Given the description of an element on the screen output the (x, y) to click on. 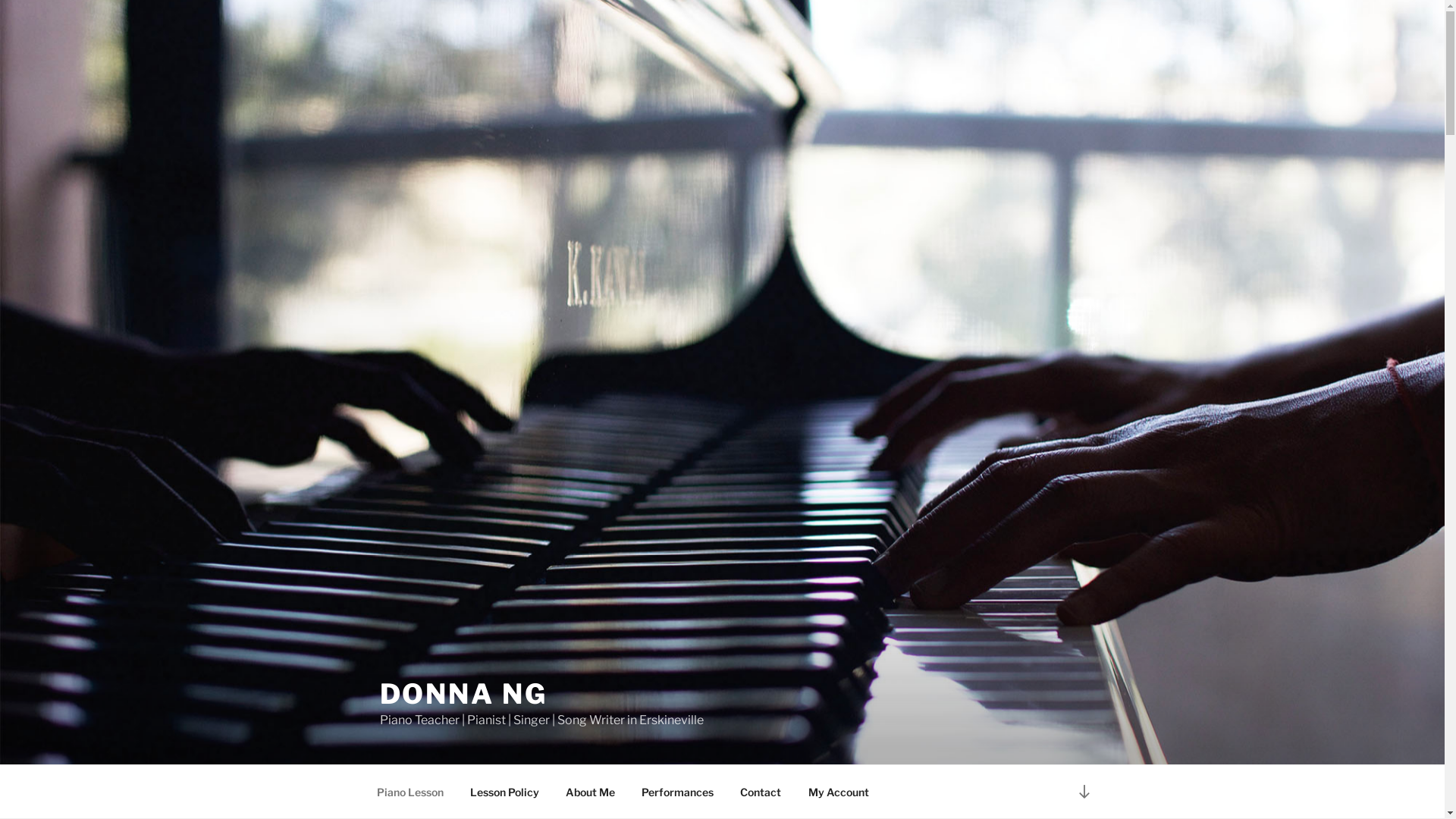
Contact Element type: text (760, 791)
Performances Element type: text (677, 791)
Piano Lesson Element type: text (409, 791)
Lesson Policy Element type: text (504, 791)
DONNA NG Element type: text (462, 693)
My Account Element type: text (837, 791)
Scroll down to content Element type: text (1083, 790)
About Me Element type: text (590, 791)
